Given the description of an element on the screen output the (x, y) to click on. 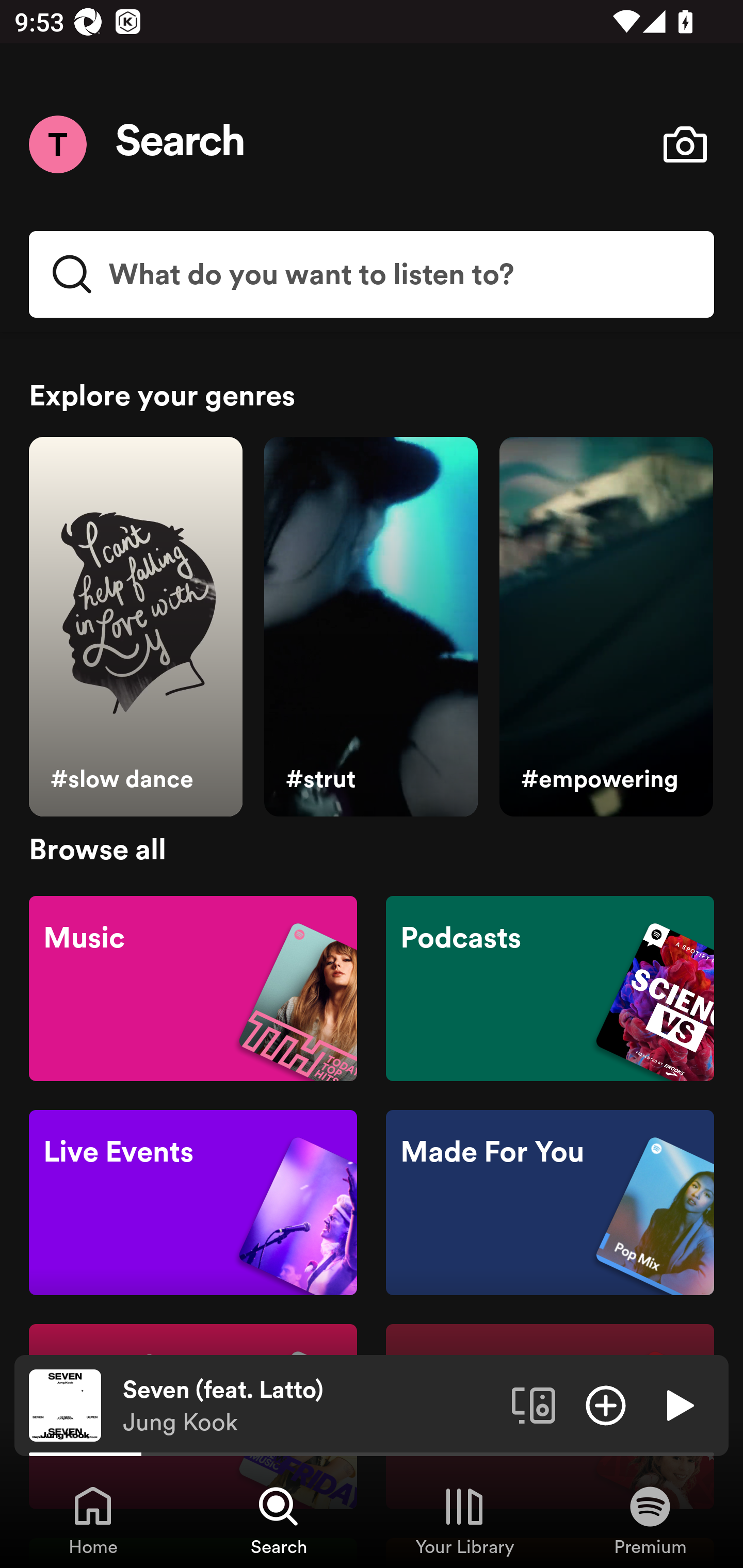
Menu (57, 144)
Open camera (685, 145)
Search (180, 144)
#slow dance (135, 626)
#strut (370, 626)
#empowering (606, 626)
Music (192, 987)
Podcasts (549, 987)
Live Events (192, 1202)
Made For You (549, 1202)
Seven (feat. Latto) Jung Kook (309, 1405)
The cover art of the currently playing track (64, 1404)
Connect to a device. Opens the devices menu (533, 1404)
Add item (605, 1404)
Play (677, 1404)
Home, Tab 1 of 4 Home Home (92, 1519)
Search, Tab 2 of 4 Search Search (278, 1519)
Your Library, Tab 3 of 4 Your Library Your Library (464, 1519)
Premium, Tab 4 of 4 Premium Premium (650, 1519)
